Given the description of an element on the screen output the (x, y) to click on. 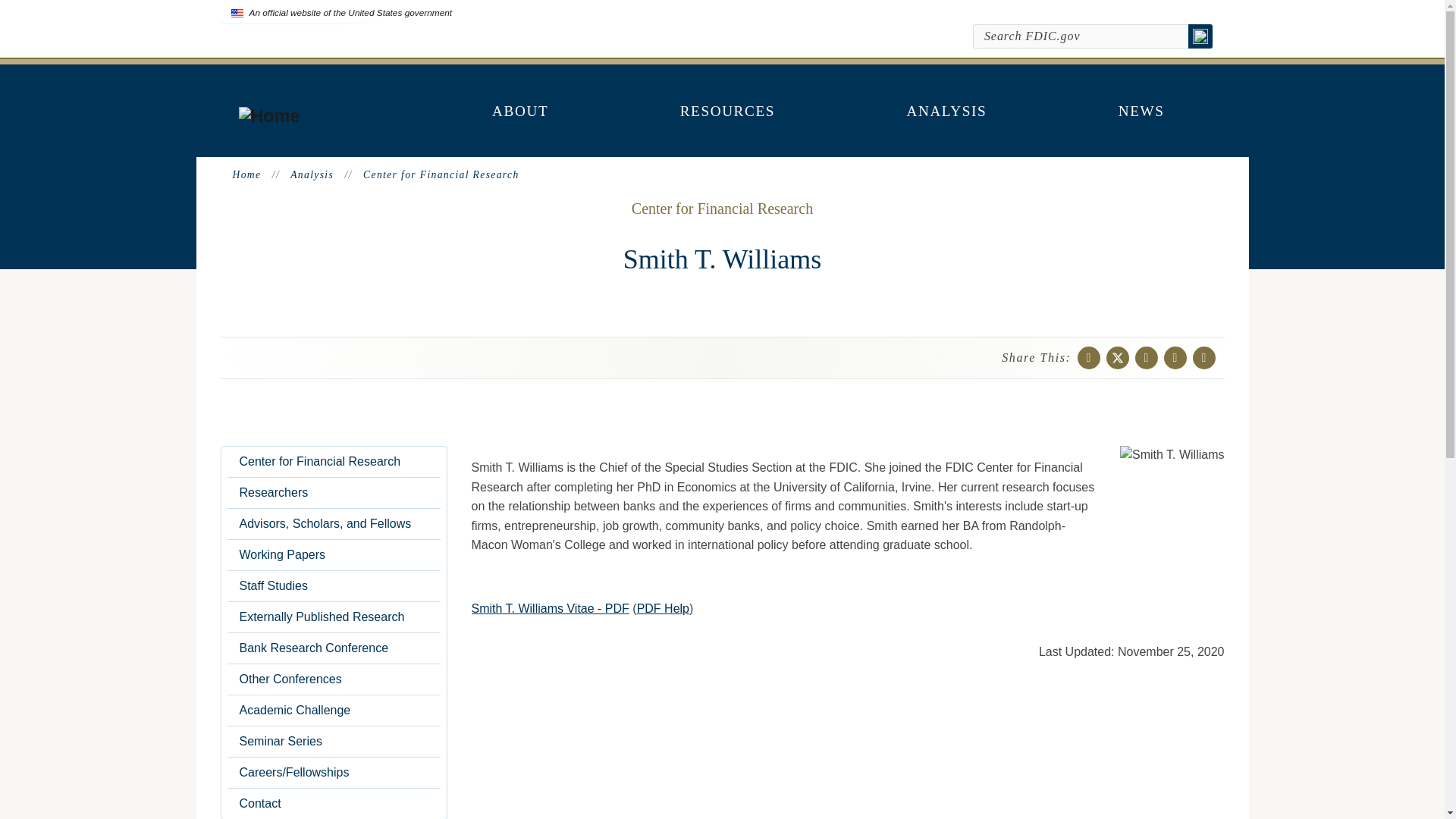
RESOURCES (727, 111)
Search FDIC.gov (1080, 36)
ABOUT (520, 111)
Search FDIC.gov (1080, 36)
Home (268, 116)
